Given the description of an element on the screen output the (x, y) to click on. 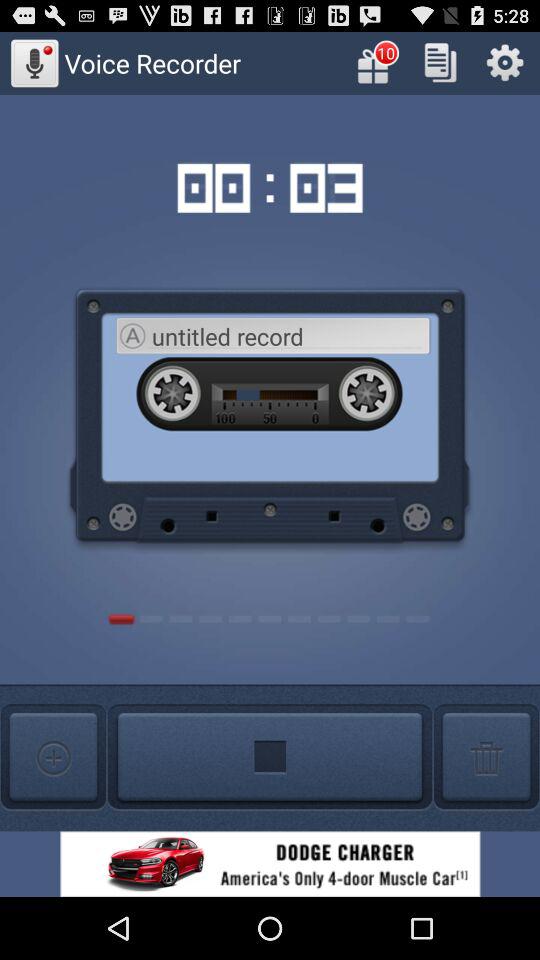
new recording (53, 757)
